Given the description of an element on the screen output the (x, y) to click on. 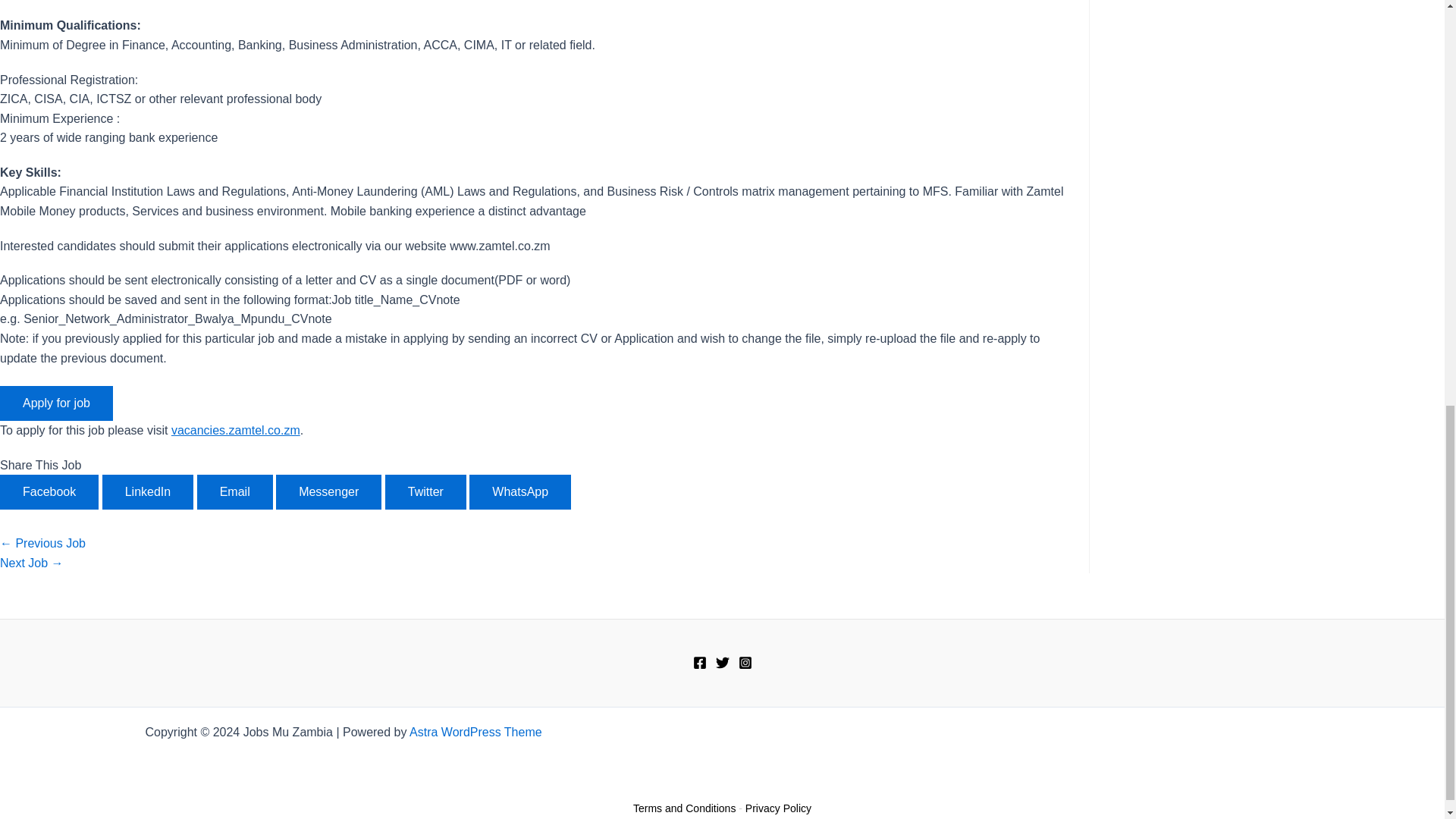
Email (234, 492)
Terms and Conditions (684, 808)
Messenger (328, 492)
Registrar (32, 562)
Facebook (49, 492)
Privacy Policy (777, 808)
Astra WordPress Theme (475, 731)
Apply for job (56, 402)
WhatsApp (519, 492)
vacancies.zamtel.co.zm (235, 430)
